Given the description of an element on the screen output the (x, y) to click on. 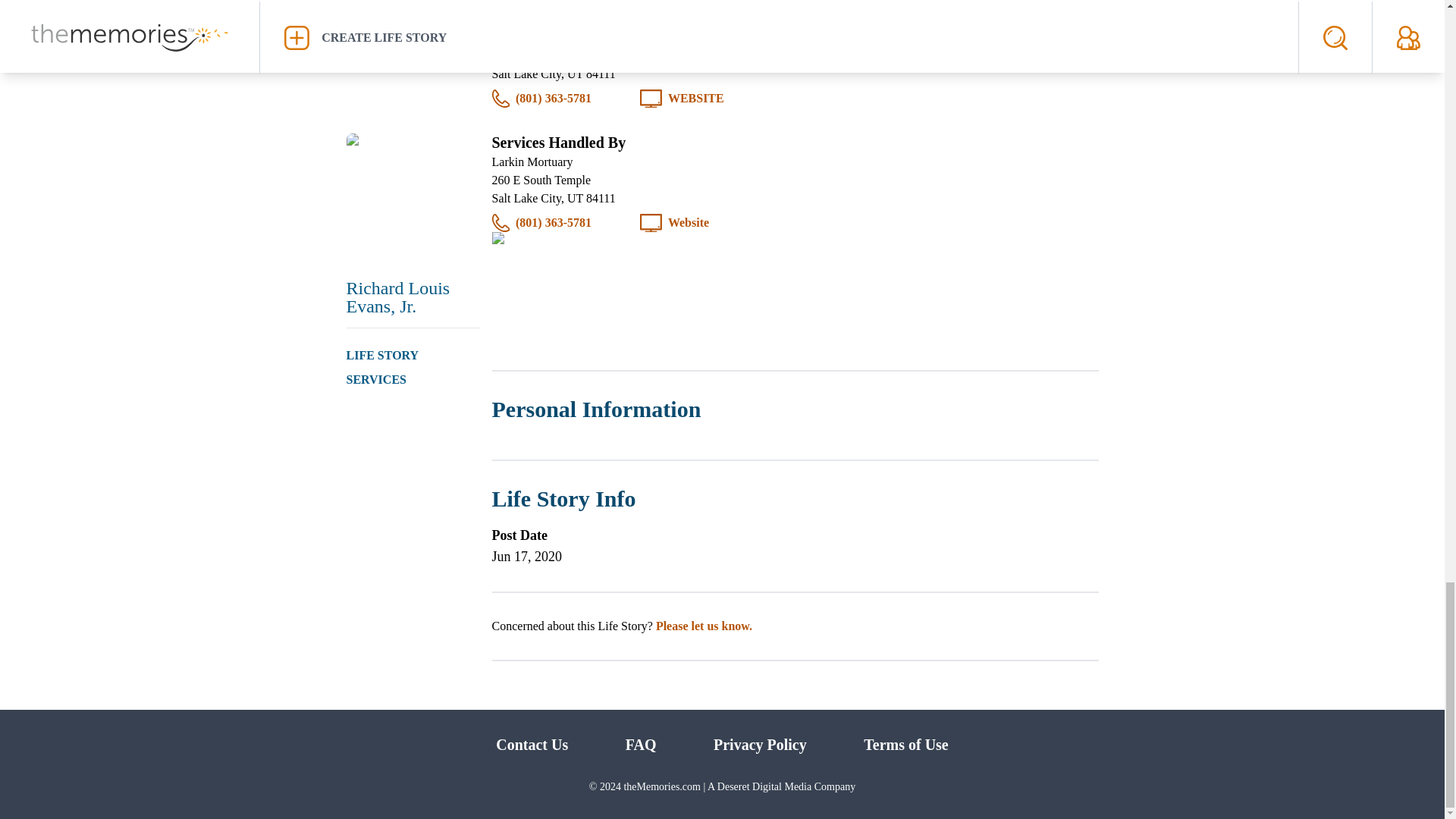
Terms of Use (905, 744)
Please let us know. (704, 625)
Website (688, 222)
Contact Us (531, 744)
WEBSITE (695, 98)
FAQ (641, 744)
Privacy Policy (759, 744)
